Given the description of an element on the screen output the (x, y) to click on. 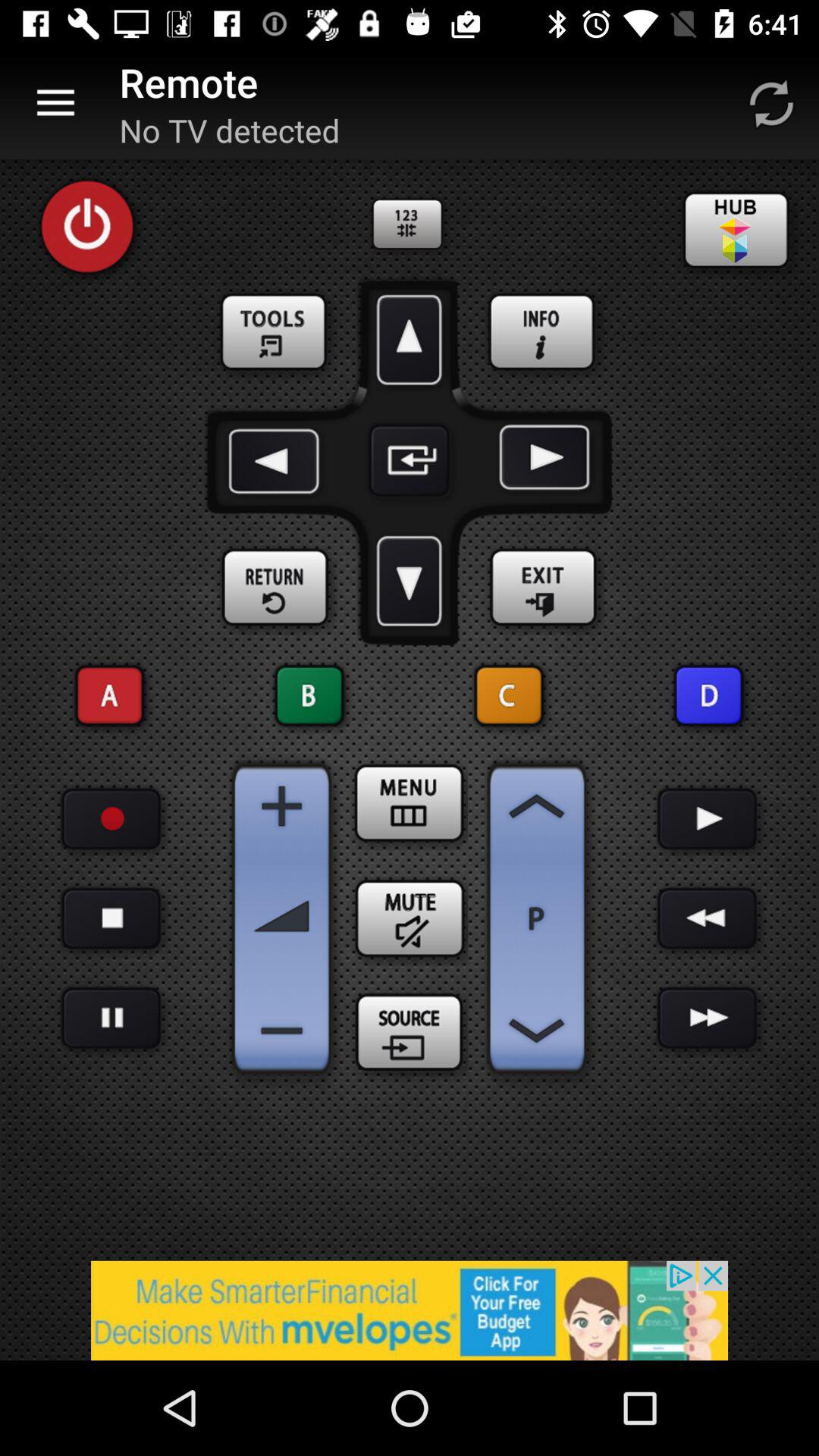
press the button (111, 918)
